Given the description of an element on the screen output the (x, y) to click on. 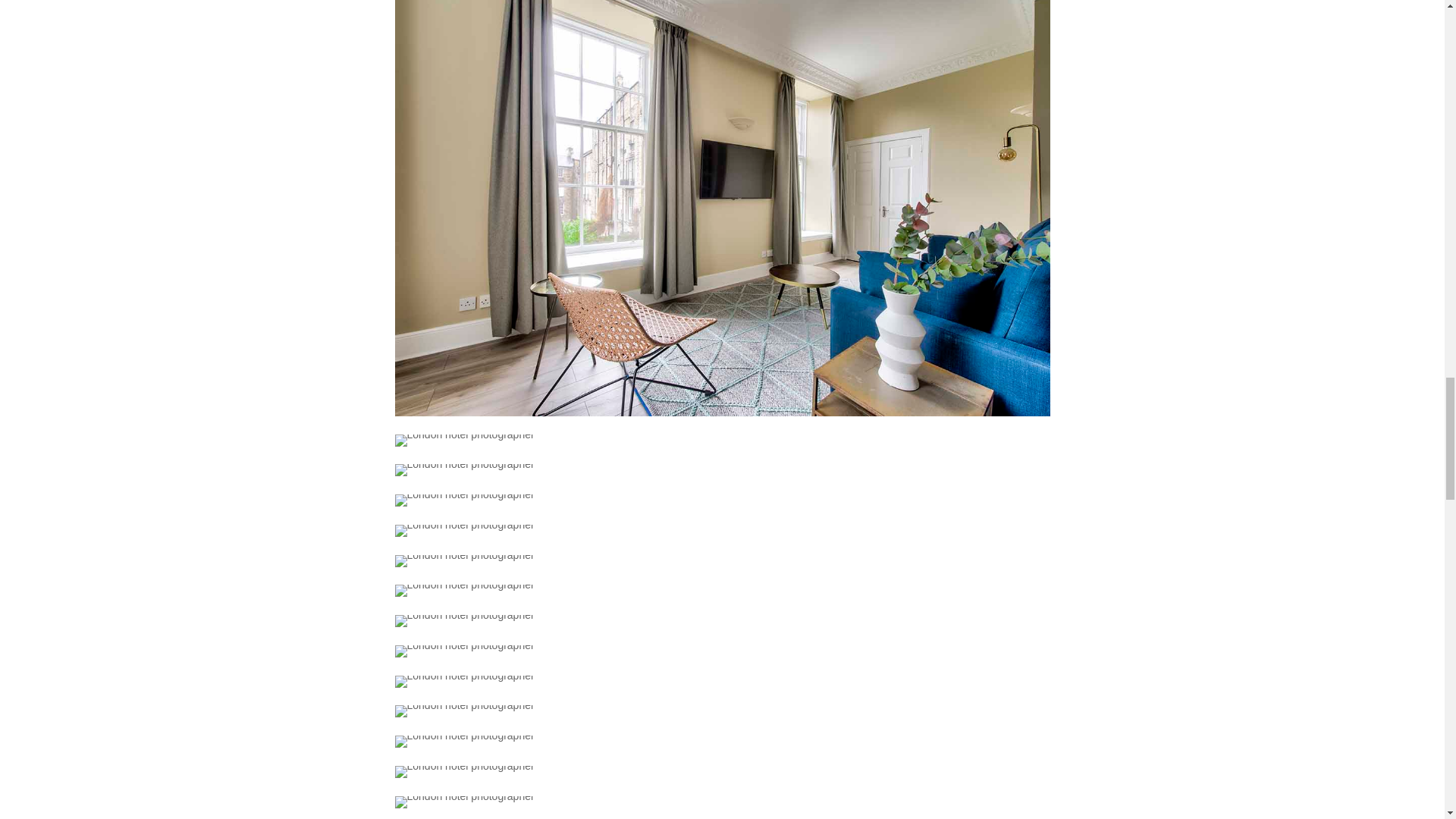
London hotel photographer (464, 590)
London hotel photographer (464, 651)
London hotel photographer (464, 440)
London hotel photographer (464, 530)
London hotel photographer (464, 469)
London hotel photographer (464, 500)
London hotel photographer (464, 561)
London hotel photographer (464, 621)
